Given the description of an element on the screen output the (x, y) to click on. 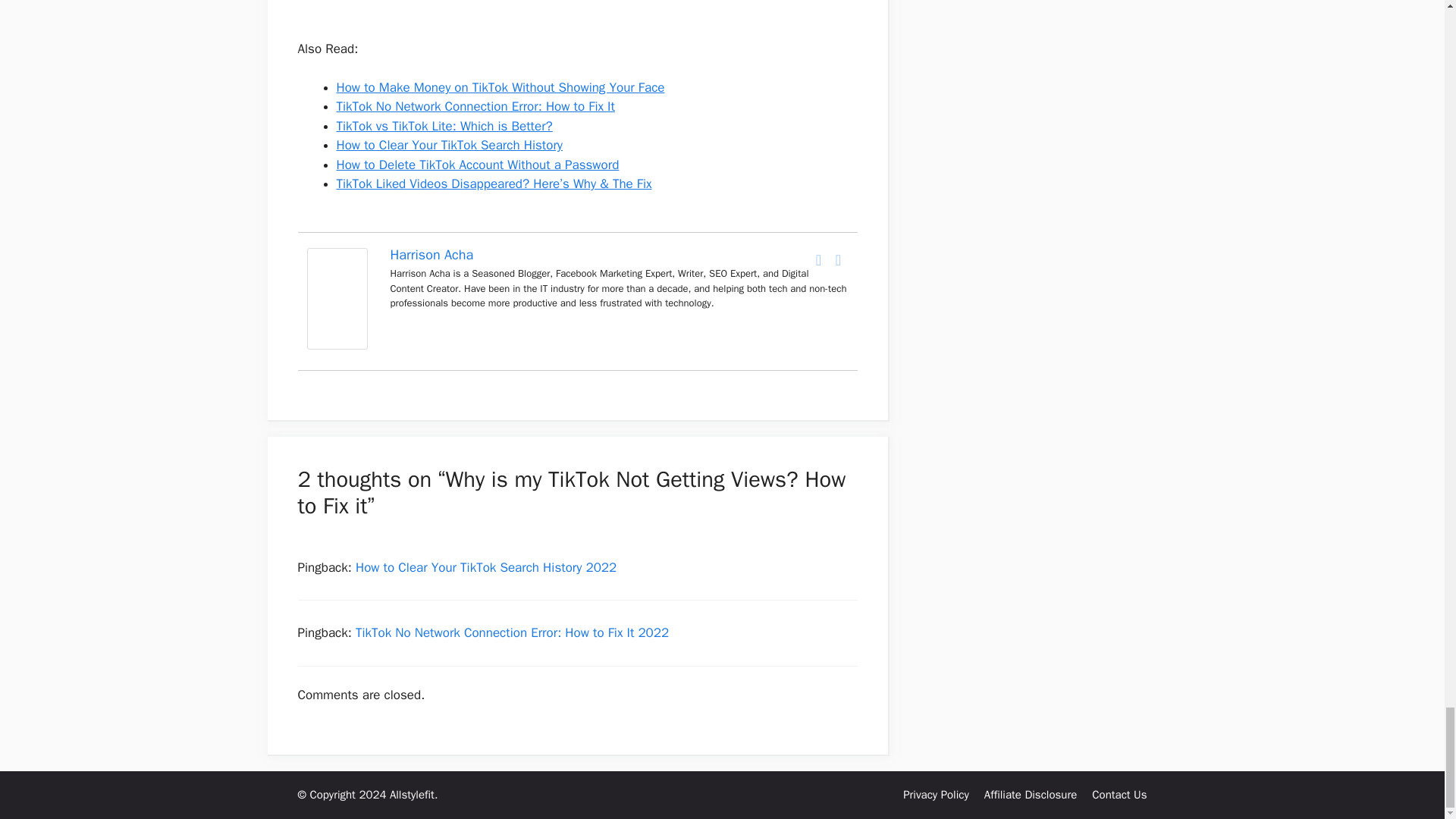
Harrison Acha (335, 344)
Twitter (838, 259)
Facebook (818, 259)
